Given the description of an element on the screen output the (x, y) to click on. 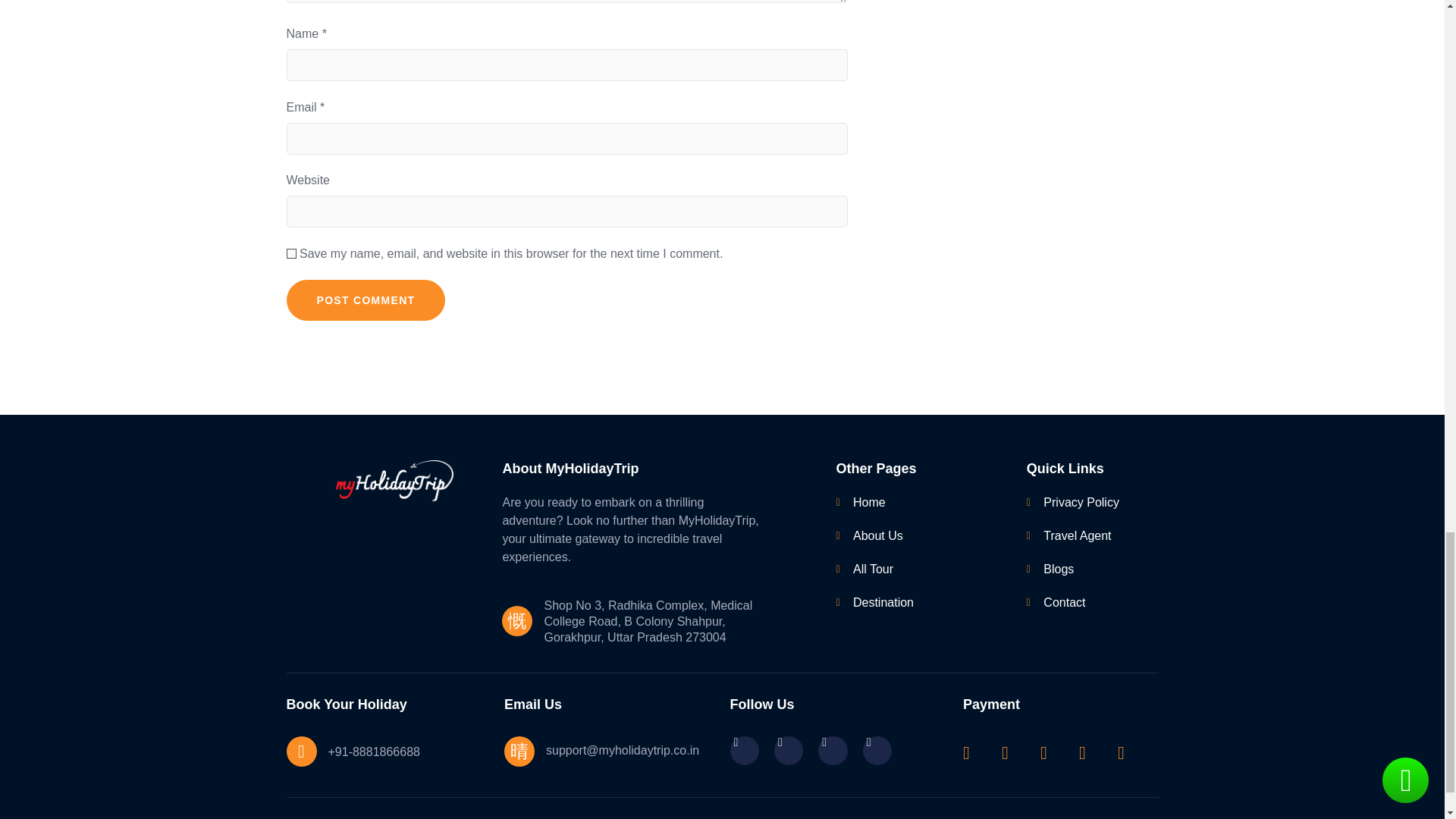
Blogs (1082, 569)
Travel Agent (1082, 536)
About Us (907, 536)
Contact (1082, 602)
Home (907, 502)
Destination (907, 602)
Post Comment (365, 300)
All Tour (907, 569)
Post Comment (365, 300)
